Given the description of an element on the screen output the (x, y) to click on. 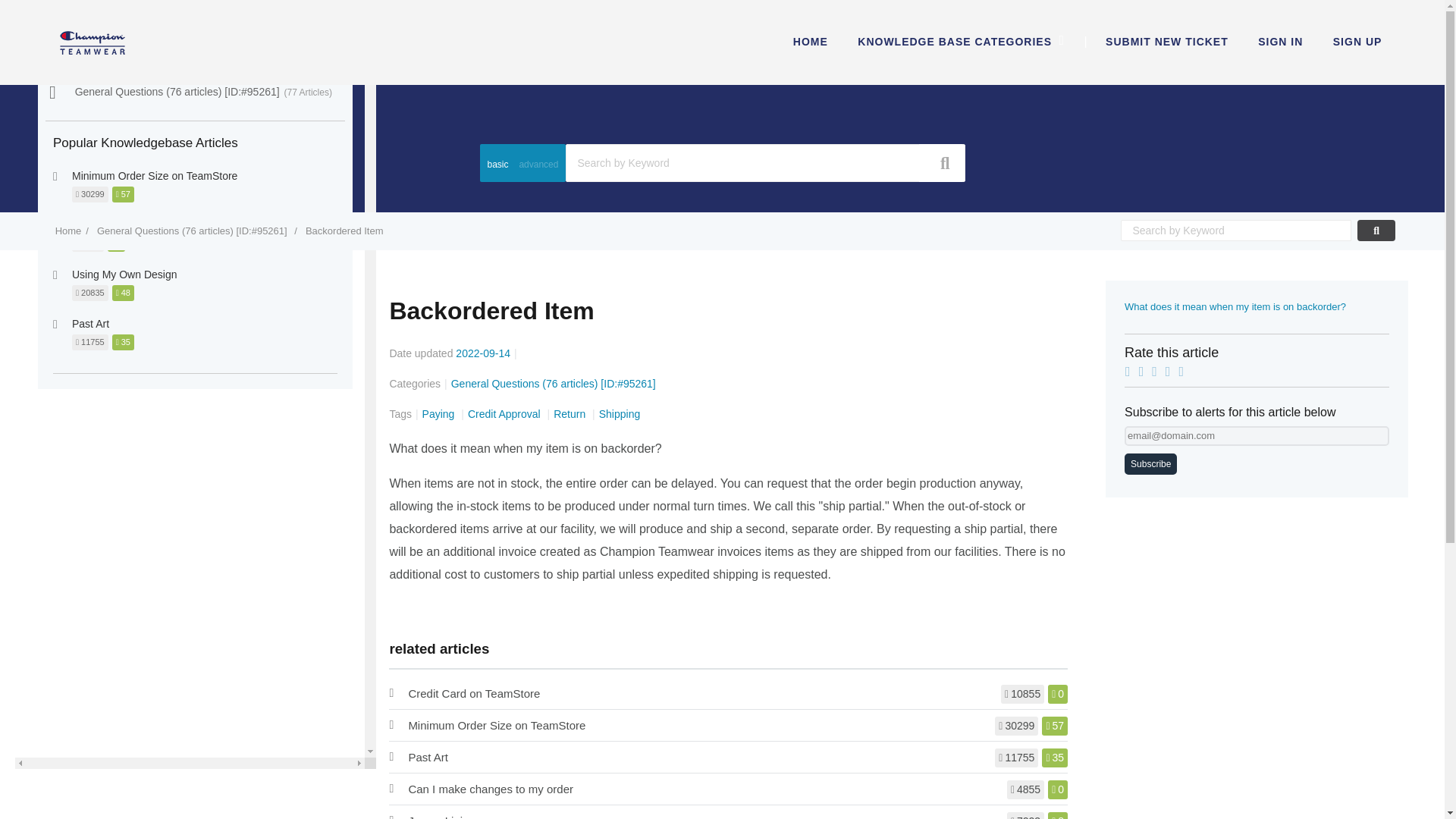
SUBMIT NEW TICKET (1167, 41)
Search Icon (944, 162)
Search button (940, 162)
What does it mean when my item is on backorder? (1234, 306)
Past Art (427, 757)
Return (570, 413)
Search (722, 143)
Paying (440, 413)
Credit Card on TeamStore (473, 693)
Minimum Order Size on TeamStore (496, 725)
Search by Keyword (764, 162)
Subscribe (1150, 464)
advanced (537, 171)
Shipping (619, 413)
Can I make changes to my order (490, 788)
